Given the description of an element on the screen output the (x, y) to click on. 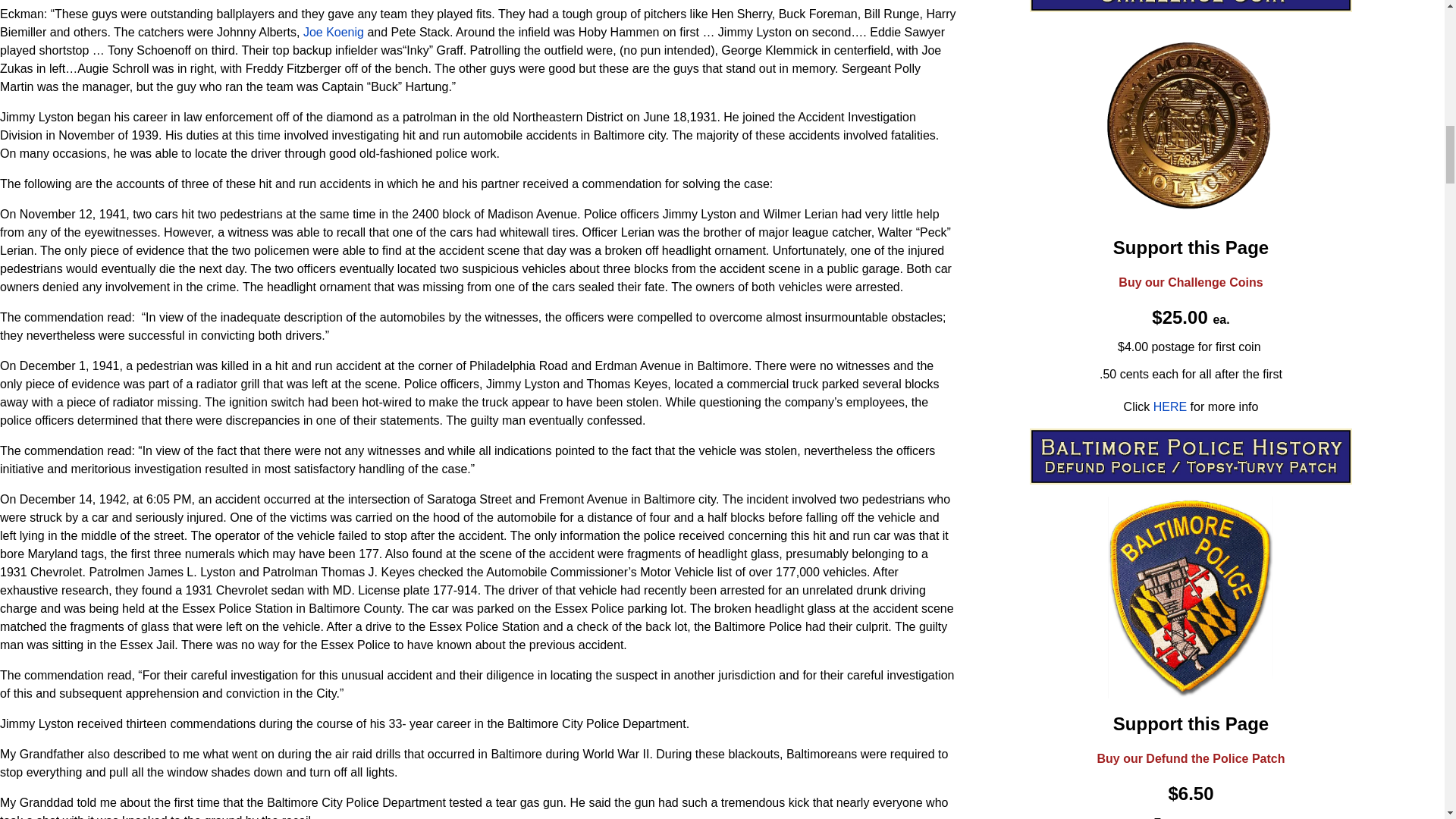
Baltimore Police History - BPD Baseball (333, 31)
